Given the description of an element on the screen output the (x, y) to click on. 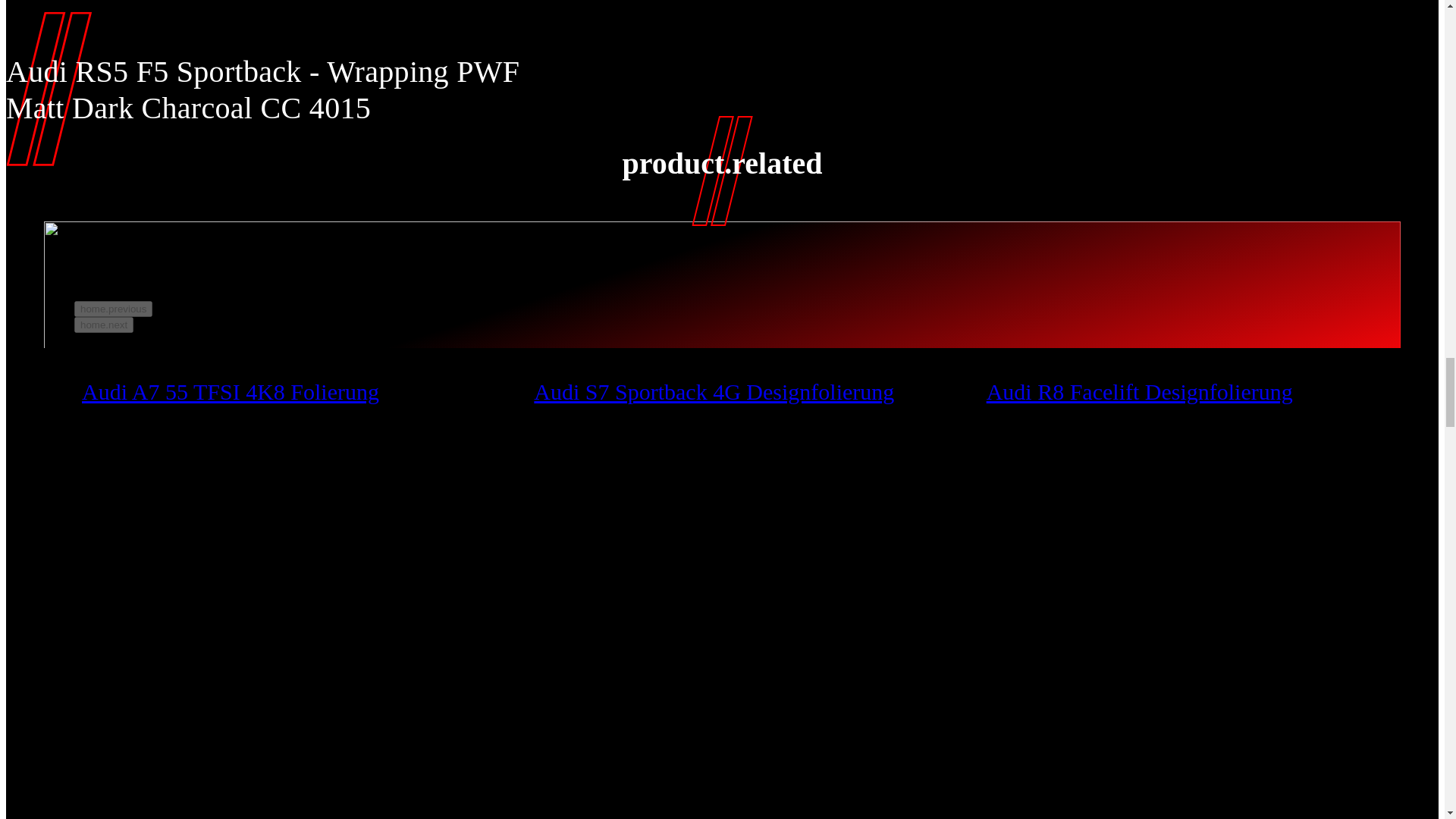
Audi A7 55 TFSI 4K8 Folierung (229, 391)
Audi S7 Sportback 4G Designfolierung (713, 391)
Audi R8 Facelift Designfolierung (1139, 391)
home.previous (113, 308)
home.next (103, 324)
